Given the description of an element on the screen output the (x, y) to click on. 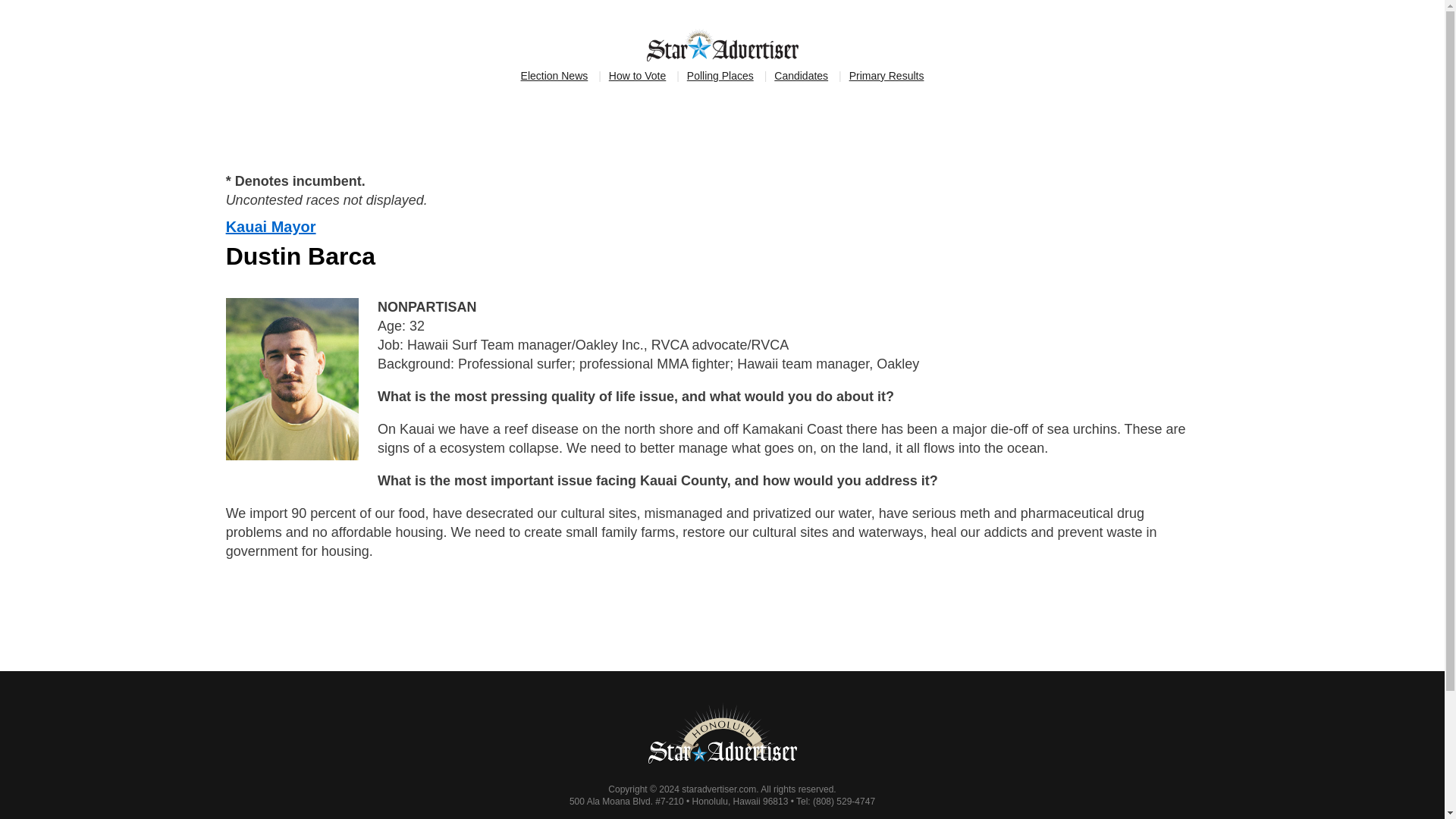
Candidates (801, 75)
How to Vote (637, 75)
Primary Results (886, 75)
Polling Places (720, 75)
Kauai Mayor (270, 226)
Election News (554, 75)
